Given the description of an element on the screen output the (x, y) to click on. 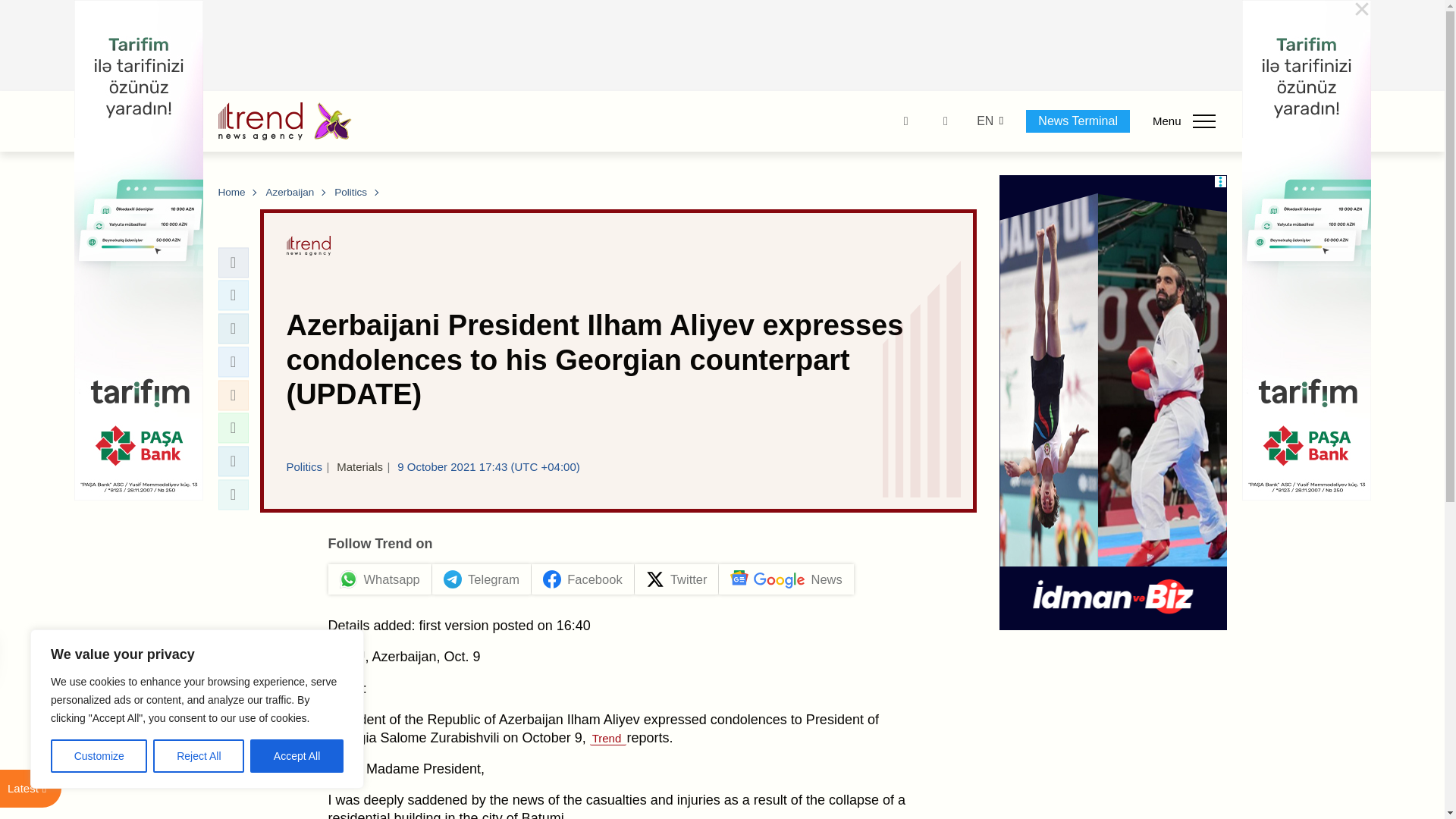
EN (984, 121)
3rd party ad content (722, 45)
English (984, 121)
Reject All (198, 756)
News Terminal (1077, 120)
Accept All (296, 756)
Customize (98, 756)
